Given the description of an element on the screen output the (x, y) to click on. 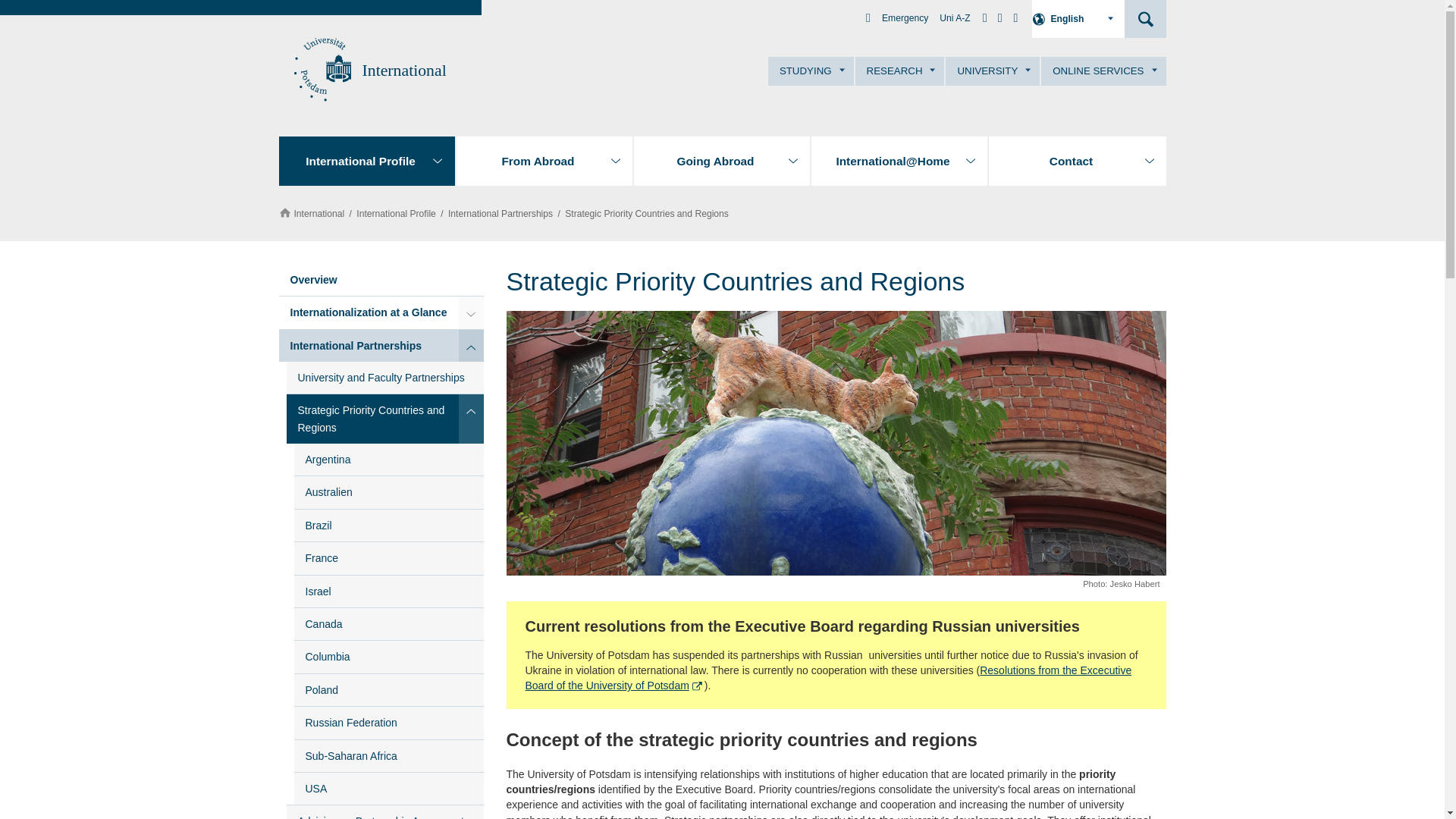
Uni A-Z (954, 18)
Emergency (905, 18)
to the Uni-Homepage (319, 70)
German Sign Language (984, 18)
Home (868, 18)
Easy-to-read (1000, 18)
Sitemap (1015, 18)
to the homepage of International (404, 70)
